Given the description of an element on the screen output the (x, y) to click on. 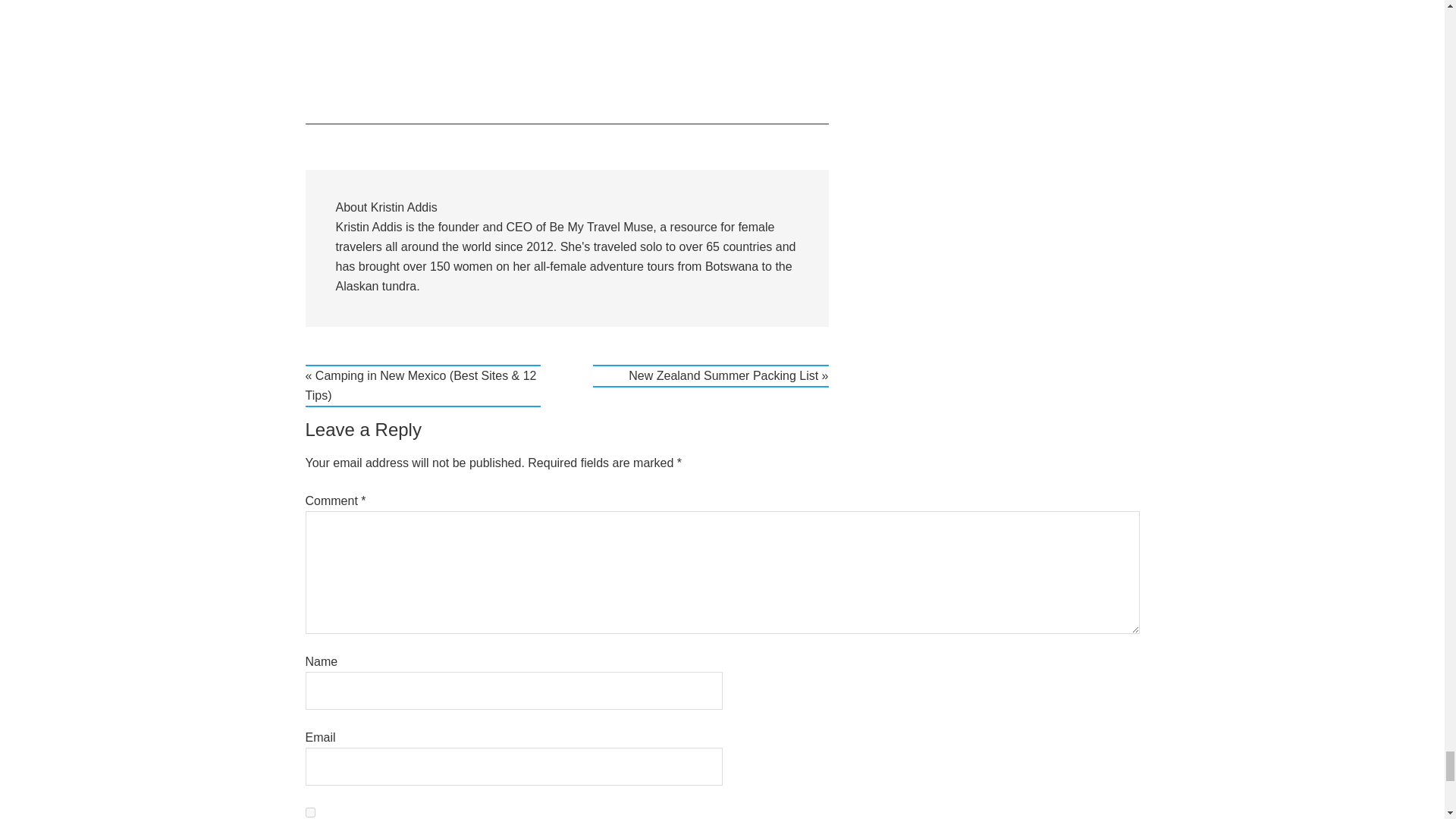
yes (309, 812)
